Given the description of an element on the screen output the (x, y) to click on. 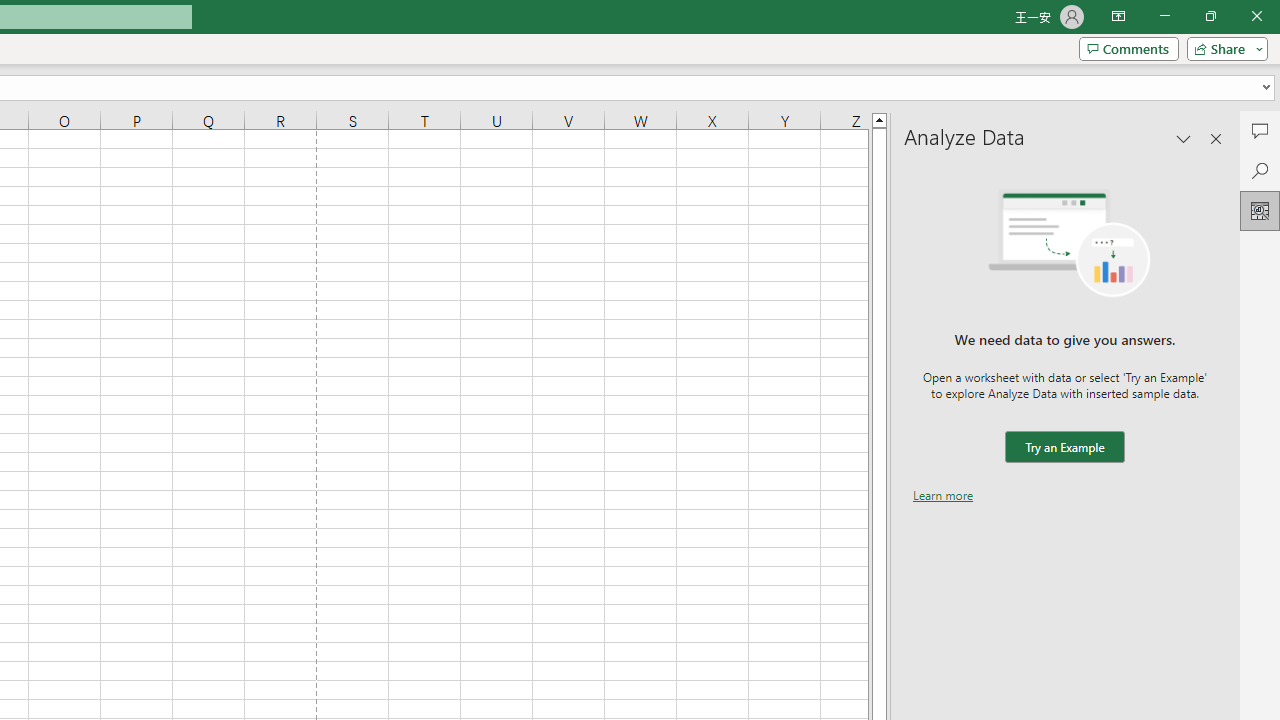
Analyze Data (1260, 210)
Close pane (1215, 138)
Learn more (943, 494)
Restore Down (1210, 16)
Search (1260, 170)
Task Pane Options (1183, 138)
We need data to give you answers. Try an Example (1064, 447)
